Given the description of an element on the screen output the (x, y) to click on. 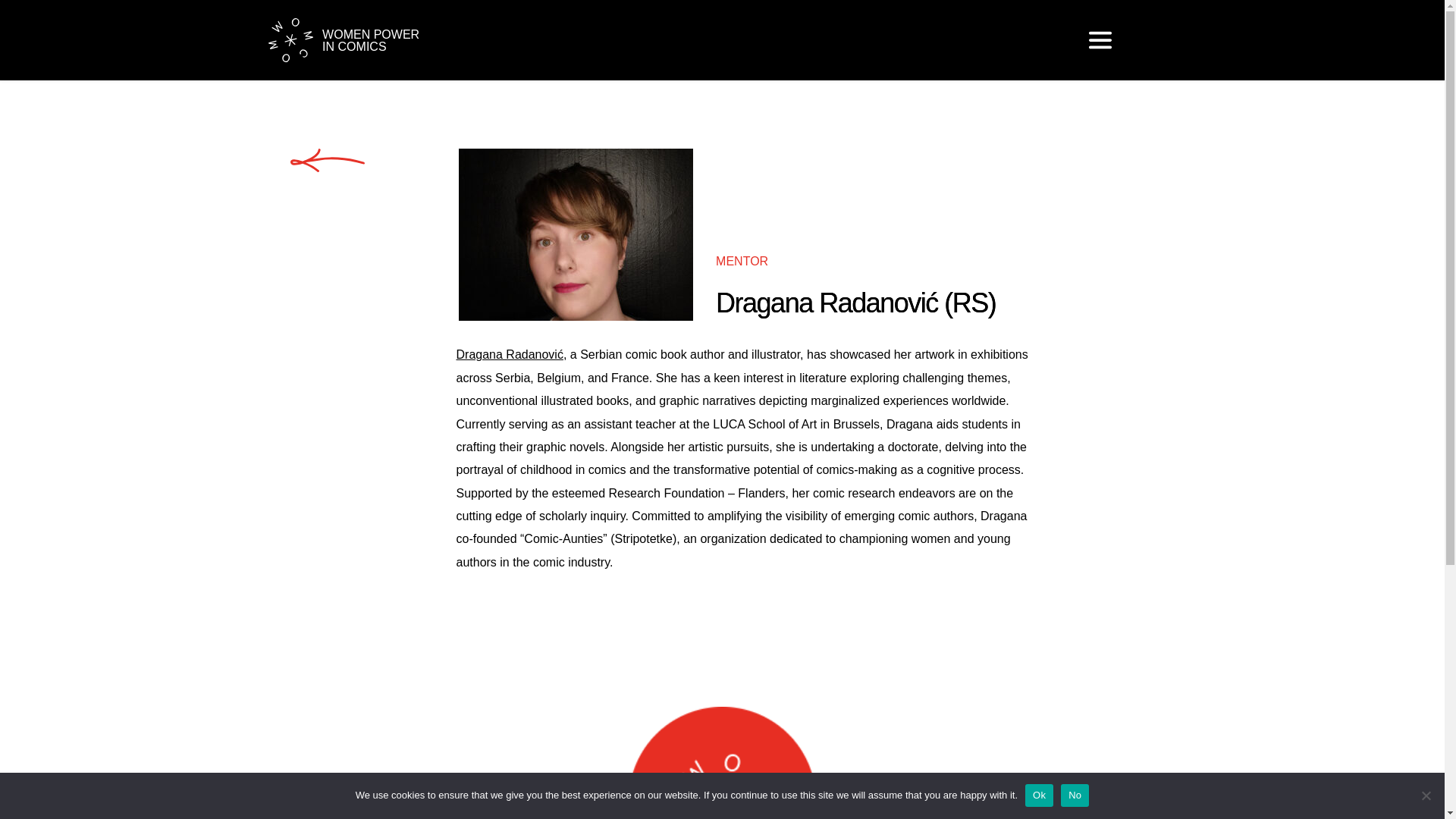
No (1425, 795)
